Given the description of an element on the screen output the (x, y) to click on. 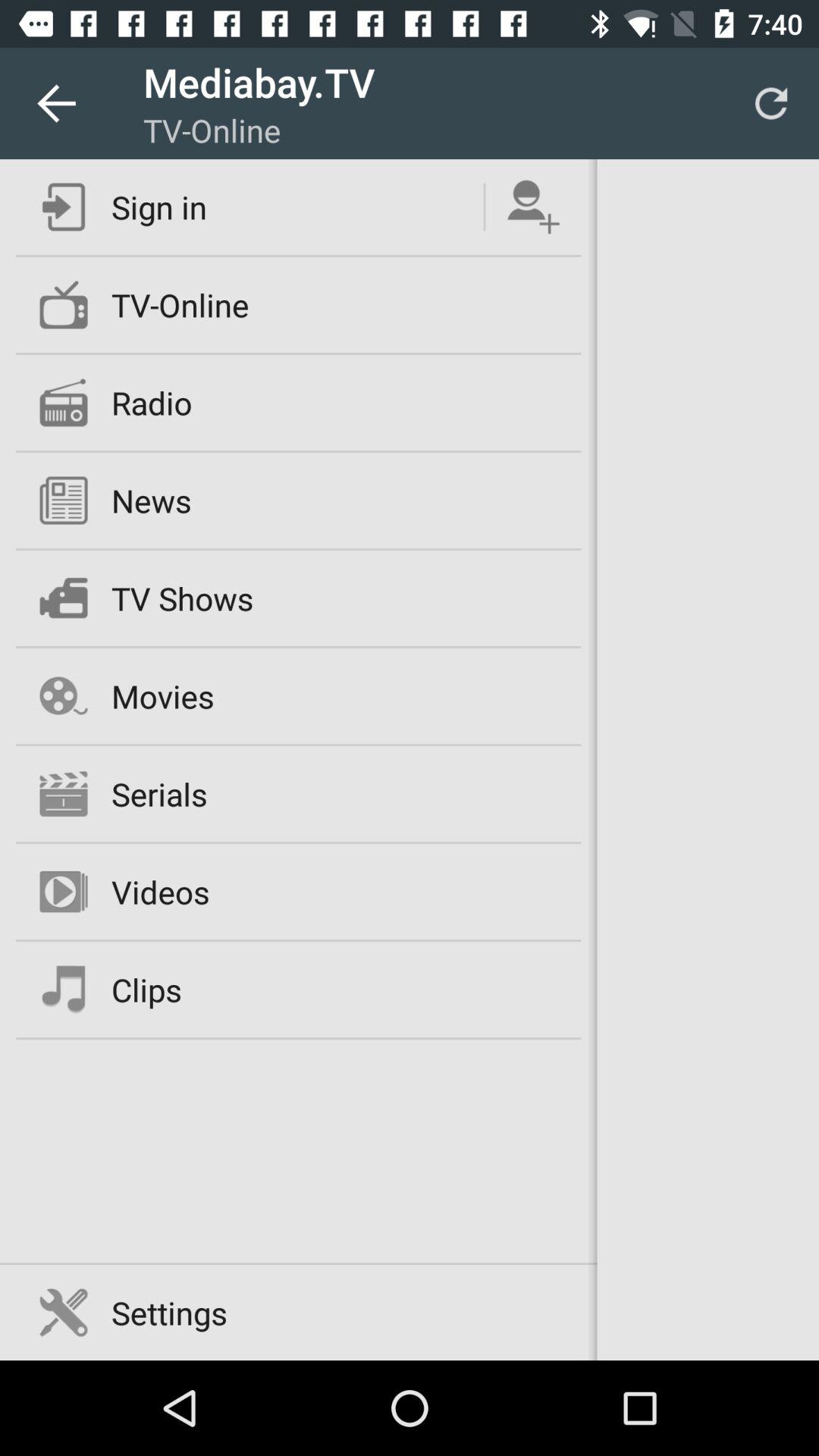
choose tv shows icon (182, 597)
